Given the description of an element on the screen output the (x, y) to click on. 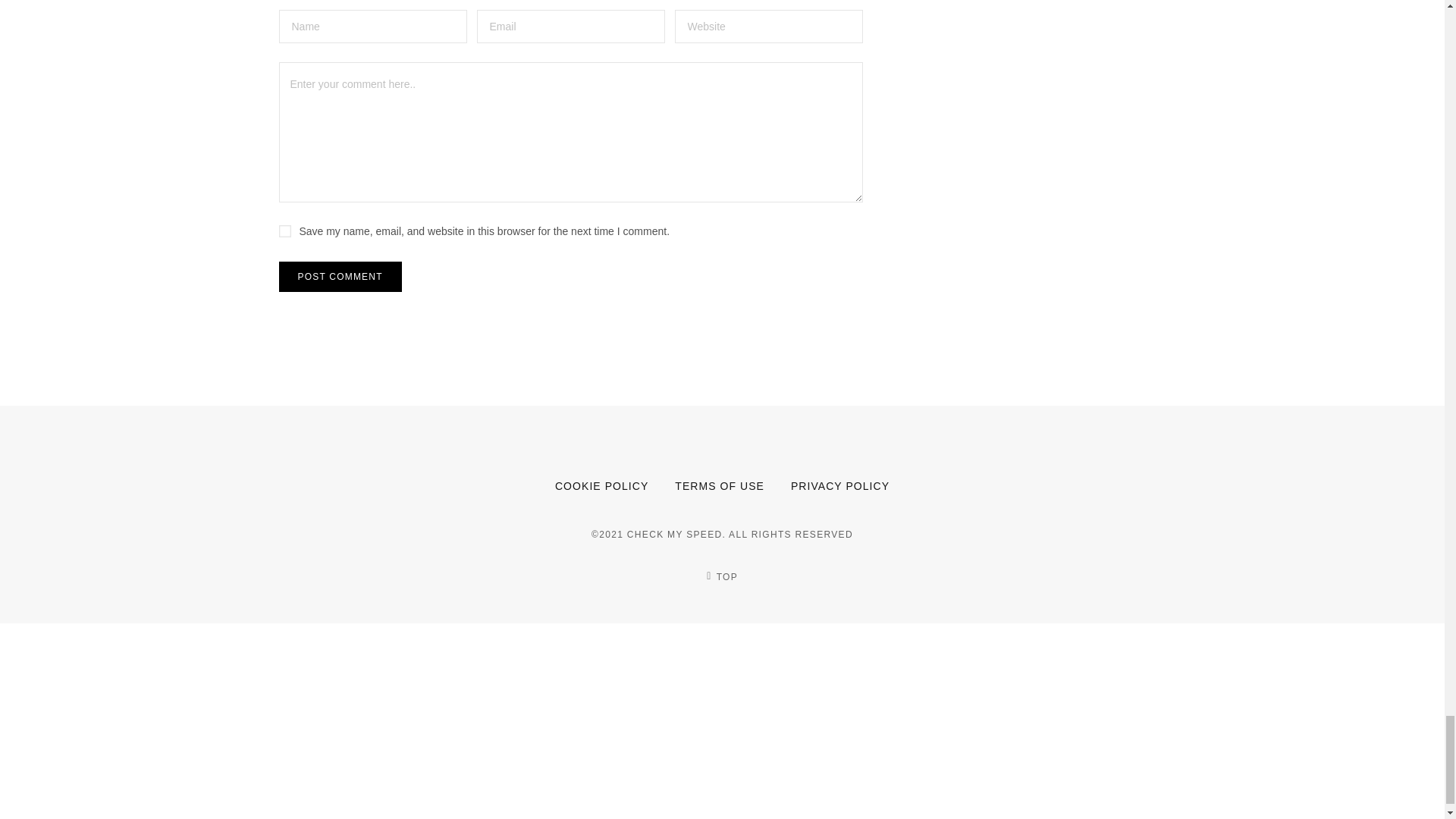
PRIVACY POLICY (839, 485)
Post Comment (340, 276)
COOKIE POLICY (600, 485)
Post Comment (340, 276)
TERMS OF USE (719, 485)
TOP (721, 576)
yes (285, 231)
